Given the description of an element on the screen output the (x, y) to click on. 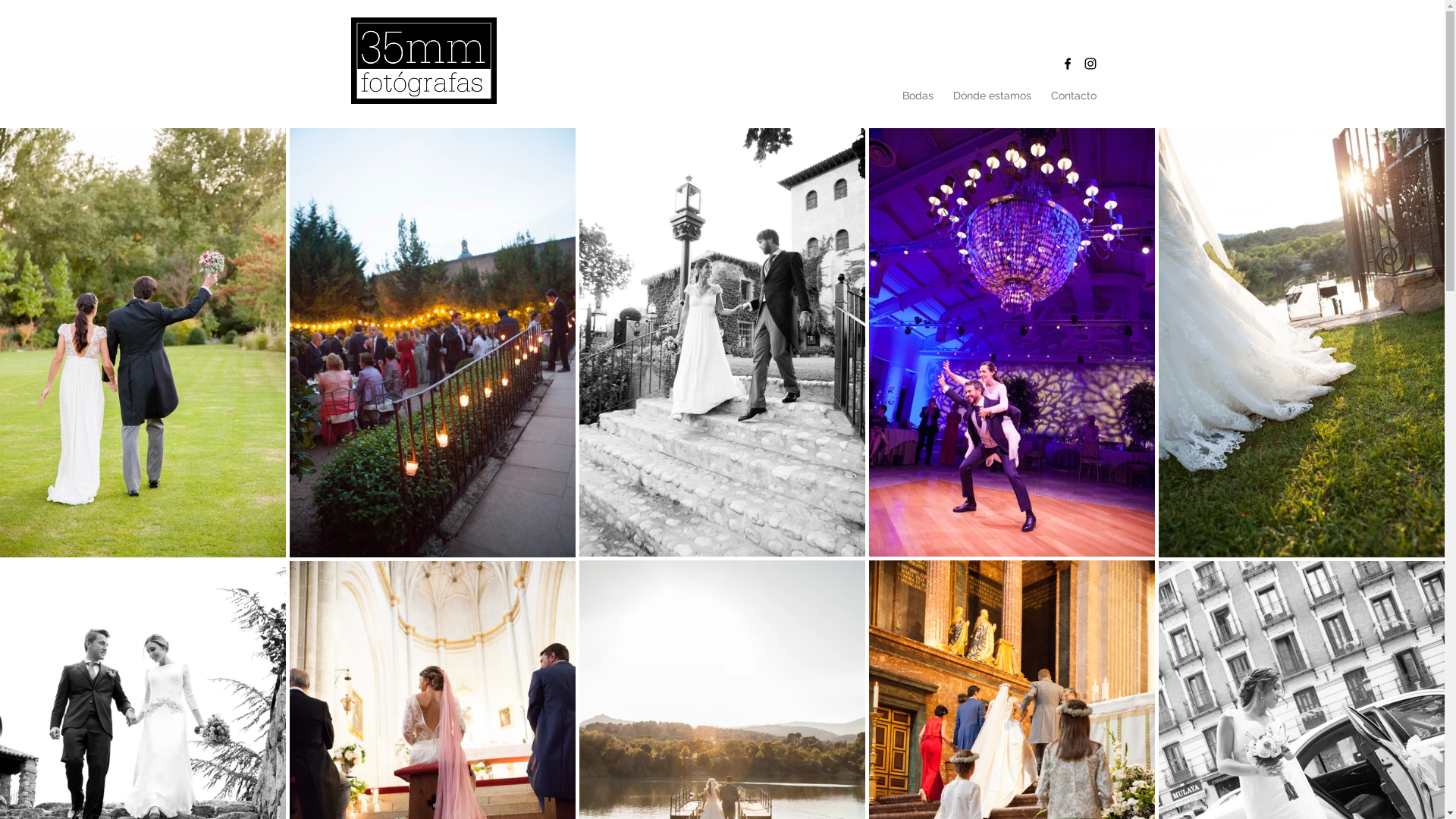
Contacto Element type: text (1072, 95)
Bodas Element type: text (916, 95)
